Given the description of an element on the screen output the (x, y) to click on. 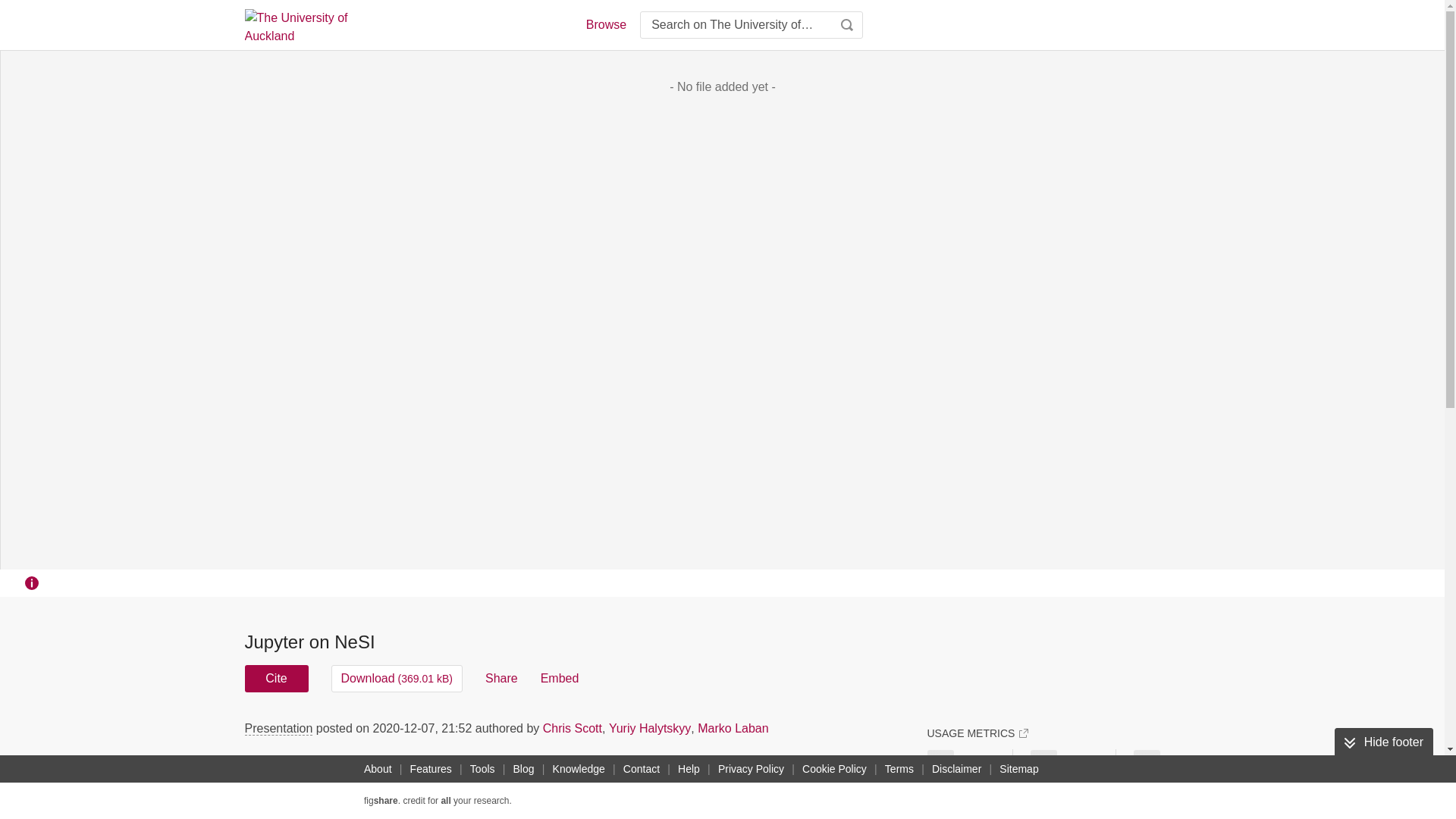
USAGE METRICS (976, 732)
Disclaimer (956, 769)
Marko Laban (732, 727)
Browse (605, 24)
Yuriy Halytskyy (649, 727)
Cite (275, 678)
Terms (899, 769)
About (377, 769)
Contact (640, 769)
Help (688, 769)
